Given the description of an element on the screen output the (x, y) to click on. 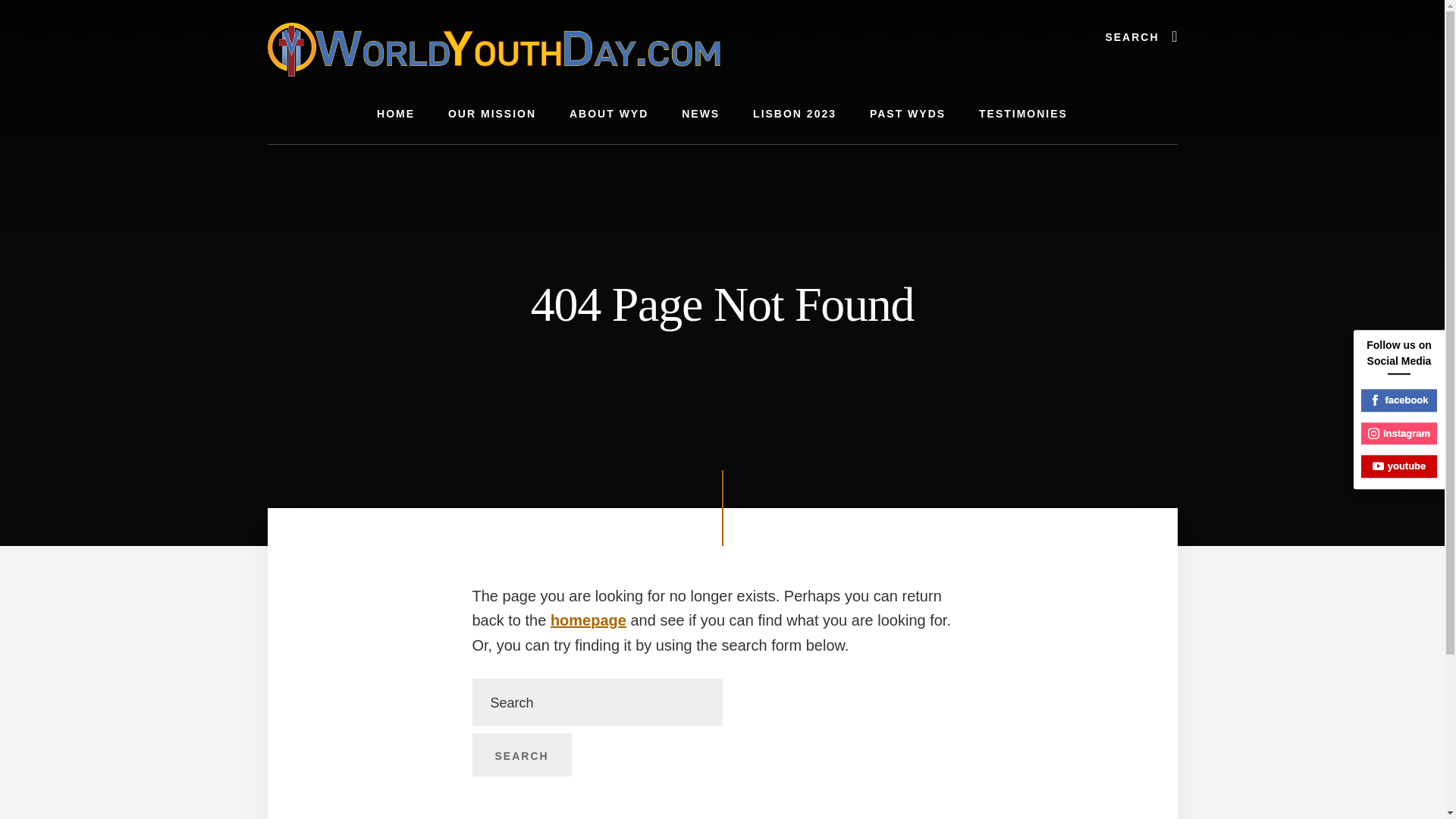
ABOUT WYD (608, 114)
TESTIMONIES (1023, 114)
homepage (588, 619)
Search (520, 755)
instagram (1399, 433)
NEWS (700, 114)
